Given the description of an element on the screen output the (x, y) to click on. 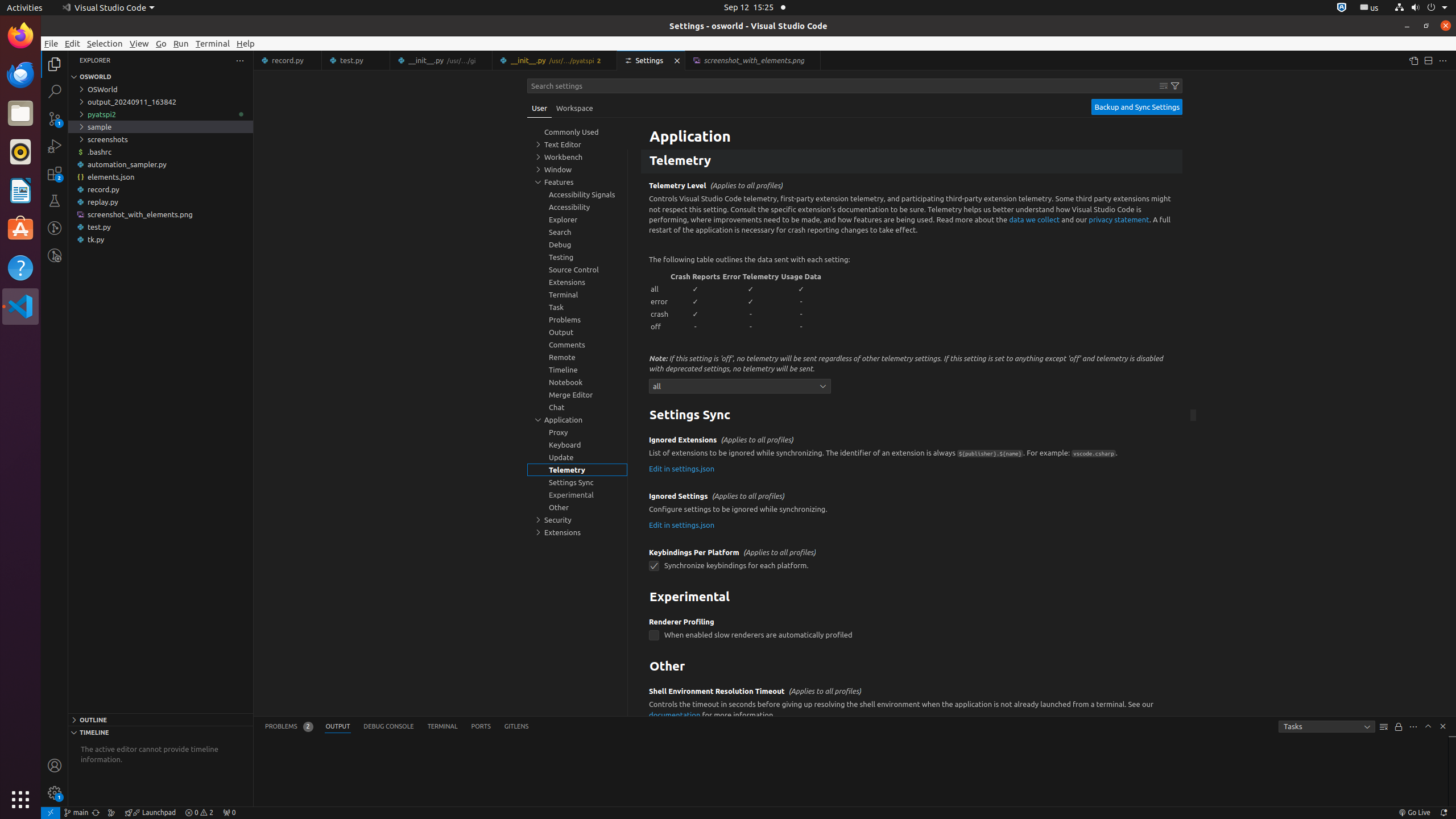
Features, group Element type: tree-item (577, 181)
Edit Element type: push-button (72, 43)
pyatspi2 Element type: tree-item (160, 114)
remote Element type: push-button (50, 812)
Selection Element type: push-button (104, 43)
